Given the description of an element on the screen output the (x, y) to click on. 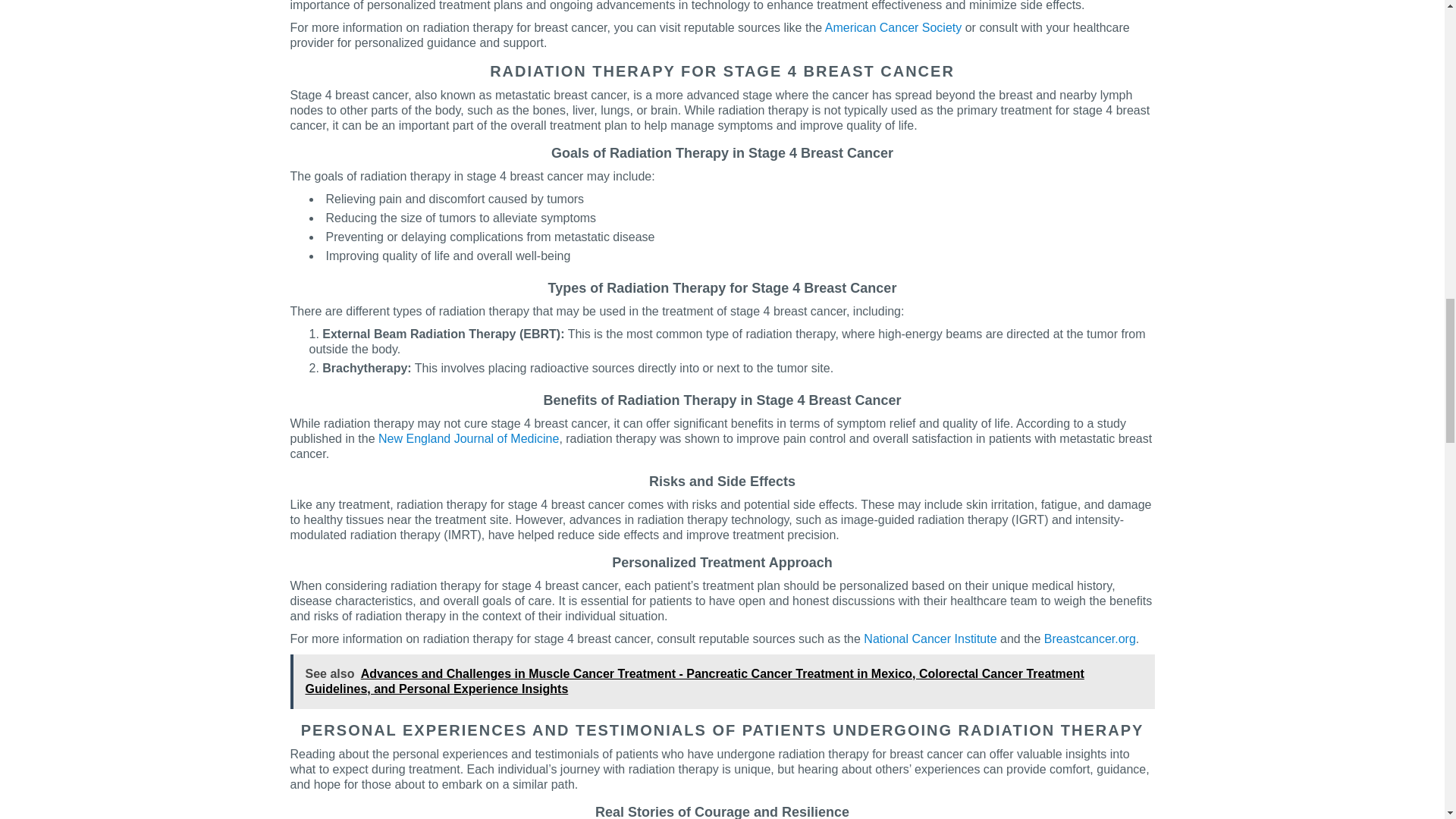
New England Journal of Medicine (468, 438)
American Cancer Society (893, 27)
National Cancer Institute (929, 638)
Breastcancer.org (1089, 638)
